Given the description of an element on the screen output the (x, y) to click on. 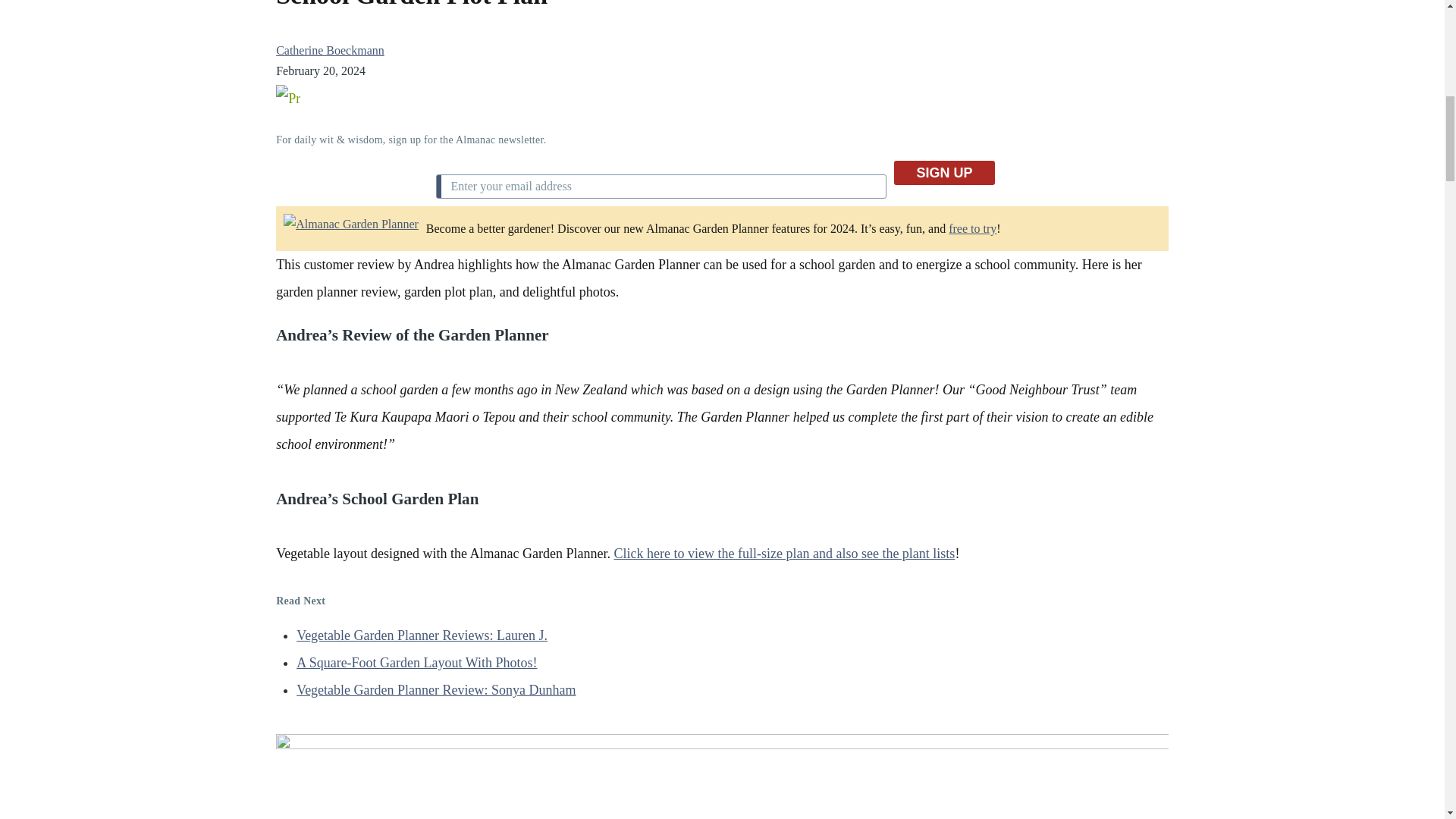
School Garden Plan (784, 553)
Printer Friendly and PDF (722, 96)
Sign Up (943, 172)
